Given the description of an element on the screen output the (x, y) to click on. 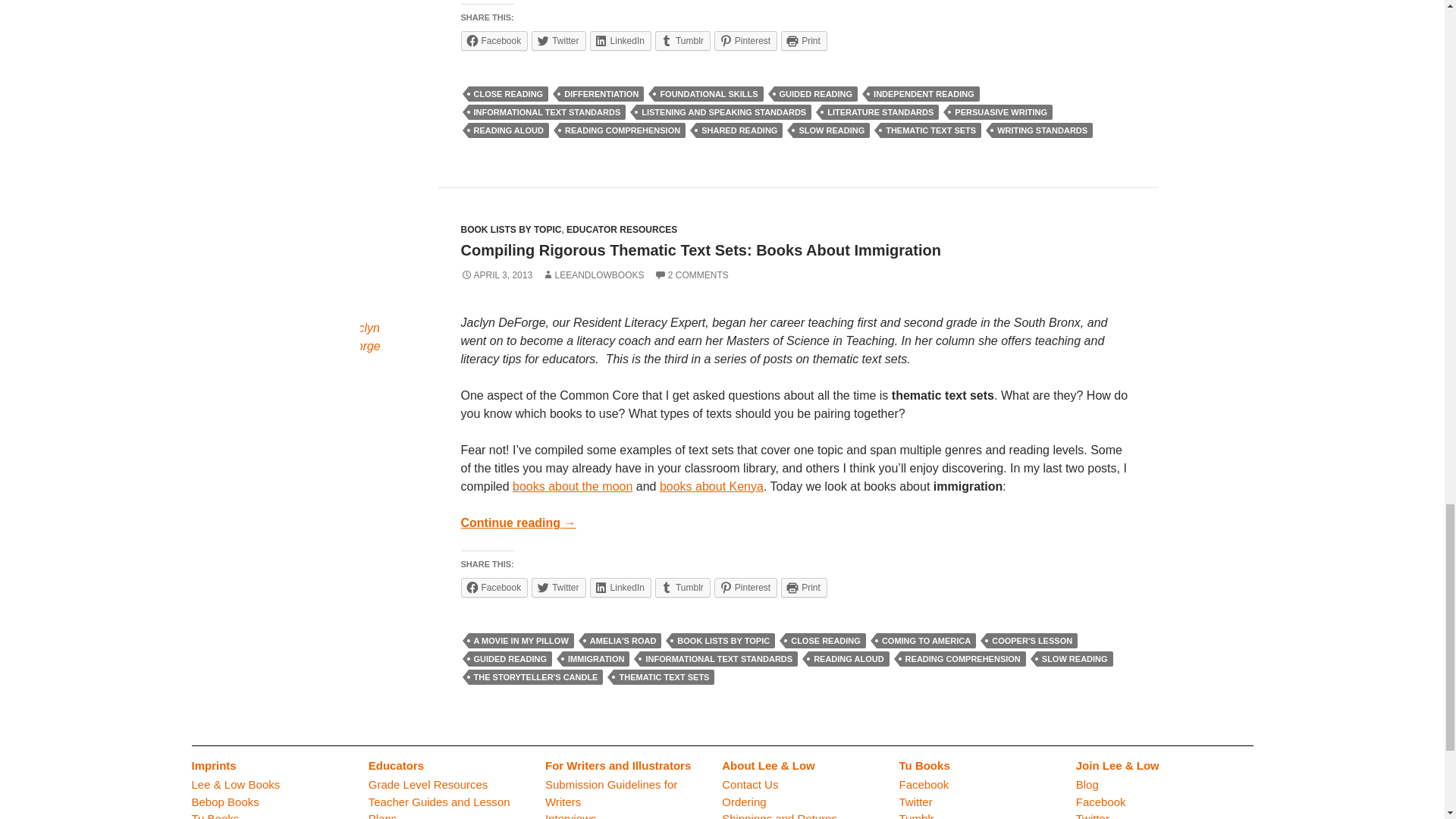
Click to share on Pinterest (745, 40)
Click to share on LinkedIn (619, 40)
Click to share on Facebook (494, 40)
Click to share on LinkedIn (619, 587)
Click to share on Tumblr (682, 40)
Click to share on Twitter (558, 587)
Click to share on Facebook (494, 587)
Facebook (494, 40)
Books about the moon (571, 486)
Click to share on Twitter (558, 40)
